Given the description of an element on the screen output the (x, y) to click on. 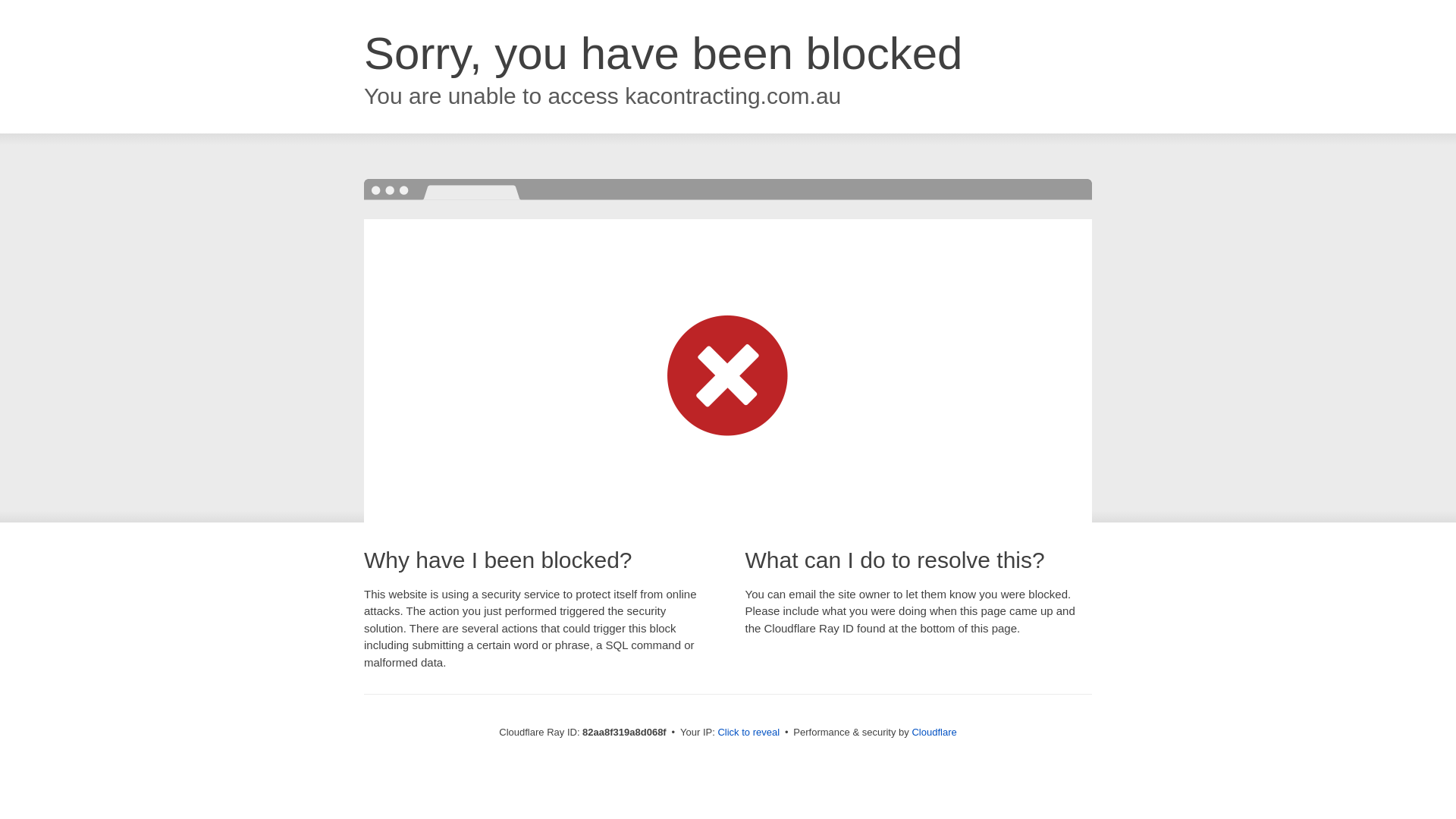
Cloudflare Element type: text (933, 731)
Click to reveal Element type: text (748, 732)
